Given the description of an element on the screen output the (x, y) to click on. 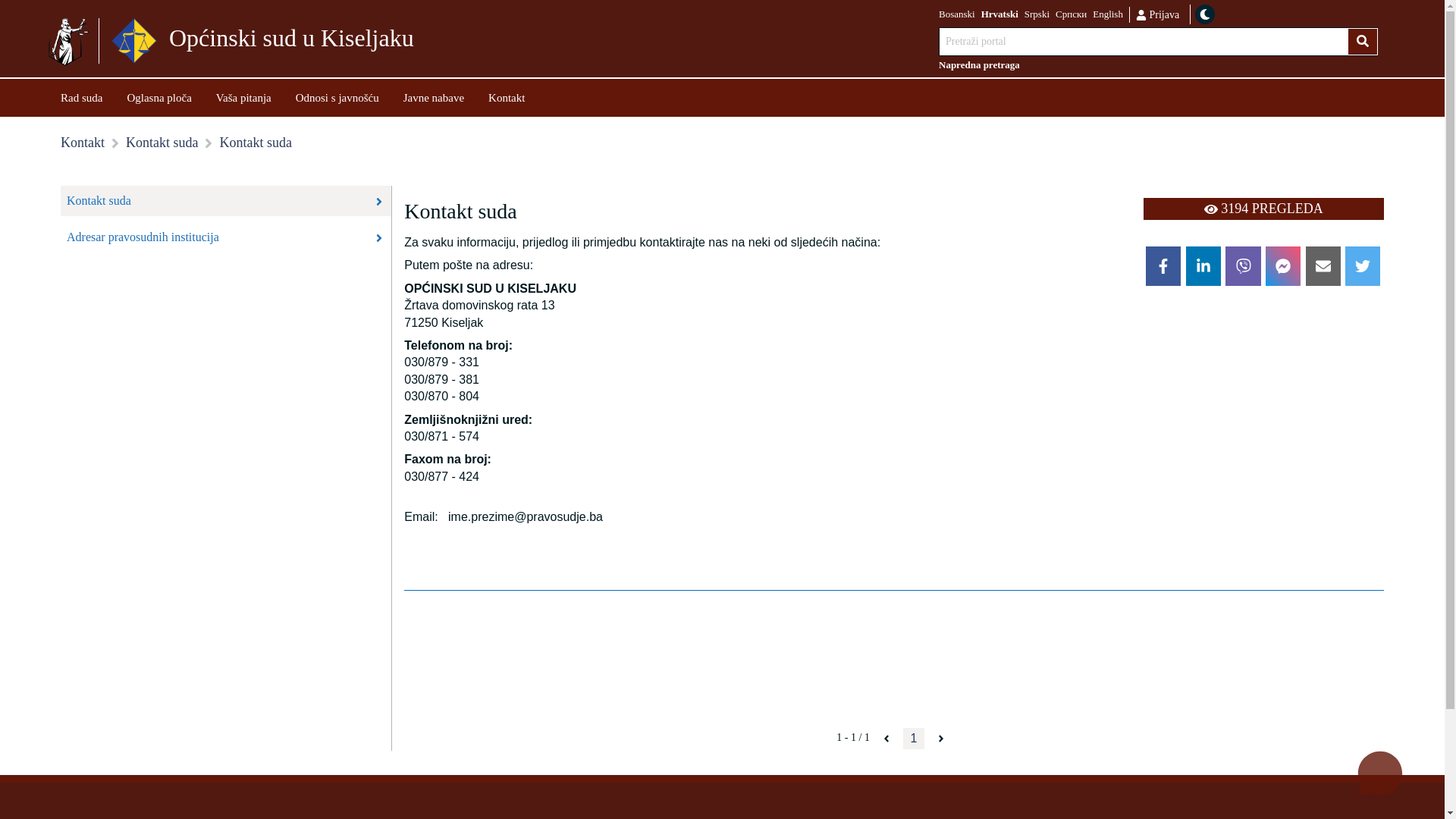
Kontakt Element type: text (82, 142)
Kontakt suda Element type: text (161, 142)
Prijava Element type: text (1157, 13)
Javne nabave Element type: text (433, 97)
Kontakt Element type: text (506, 97)
Adresar pravosudnih institucija Element type: text (225, 237)
Kontakt suda Element type: text (225, 200)
Napredna pretraga Element type: text (1157, 65)
Rad suda Element type: text (81, 97)
